Given the description of an element on the screen output the (x, y) to click on. 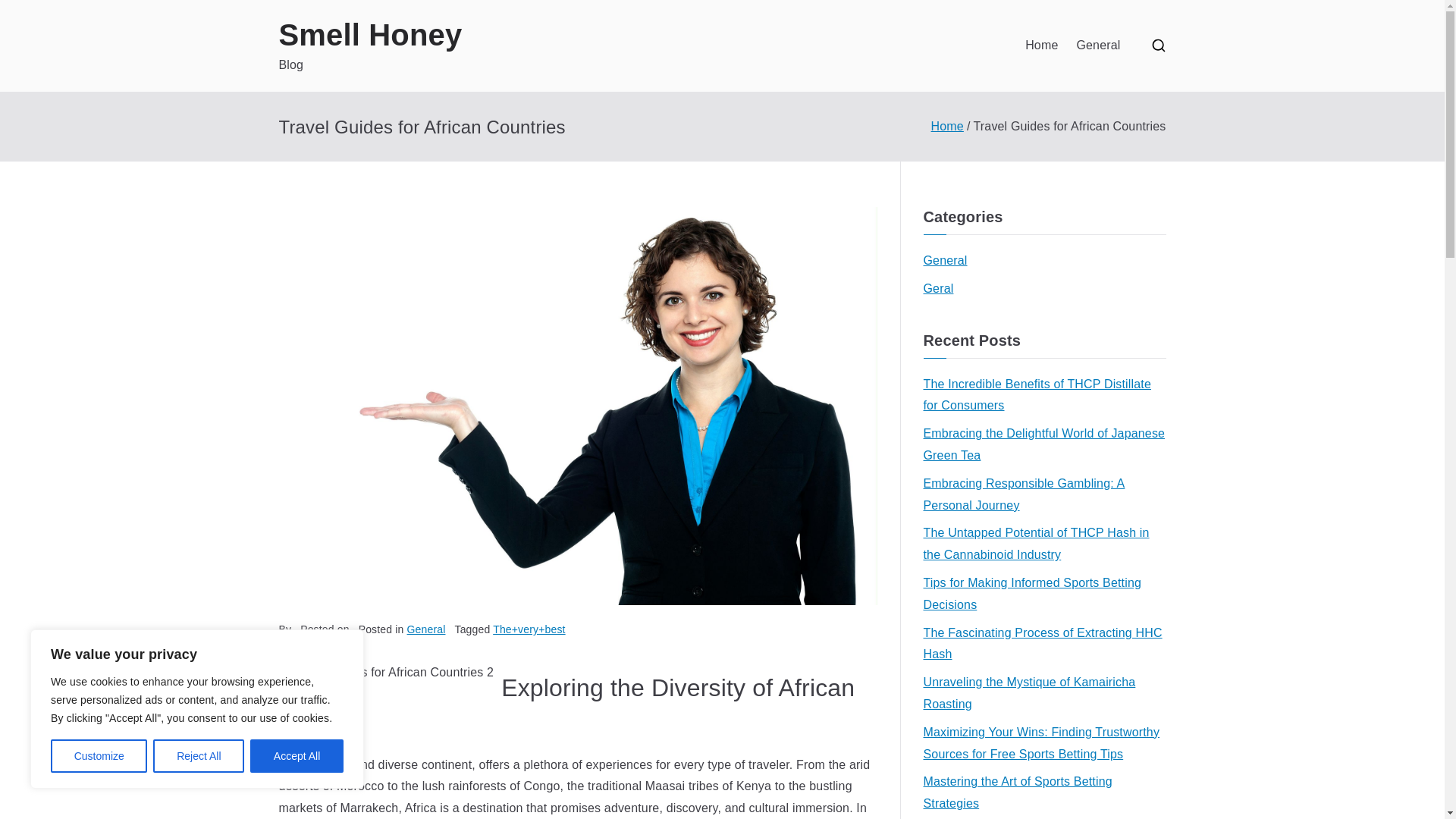
Reject All (198, 756)
Home (947, 125)
Embracing the Delightful World of Japanese Green Tea (1044, 444)
Geral (938, 289)
Smell Honey (371, 34)
General (945, 260)
Accept All (296, 756)
General (426, 629)
Home (1041, 45)
General (1097, 45)
The Incredible Benefits of THCP Distillate for Consumers (1044, 395)
Customize (98, 756)
